Given the description of an element on the screen output the (x, y) to click on. 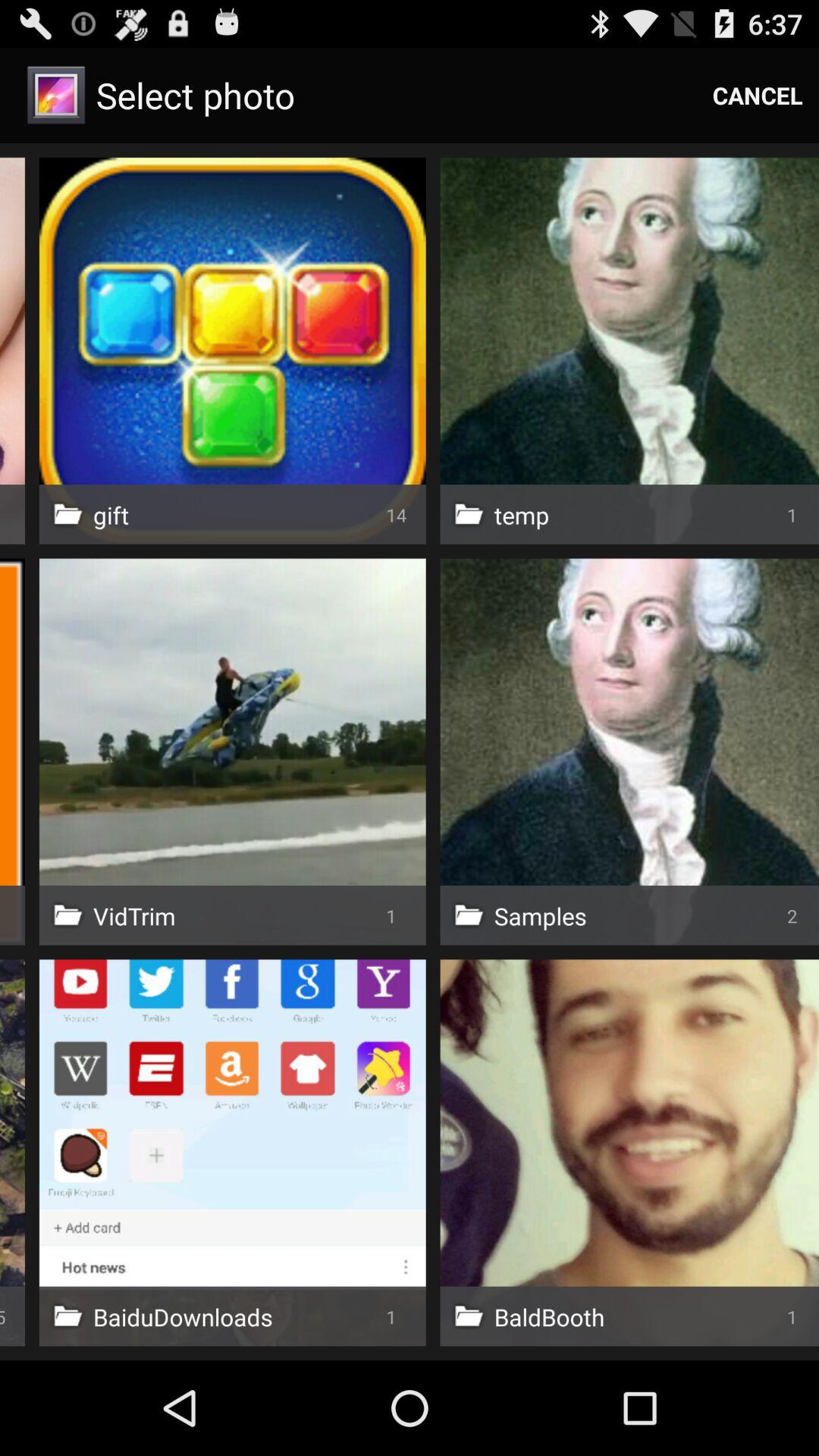
tap the cancel at the top right corner (757, 95)
